Given the description of an element on the screen output the (x, y) to click on. 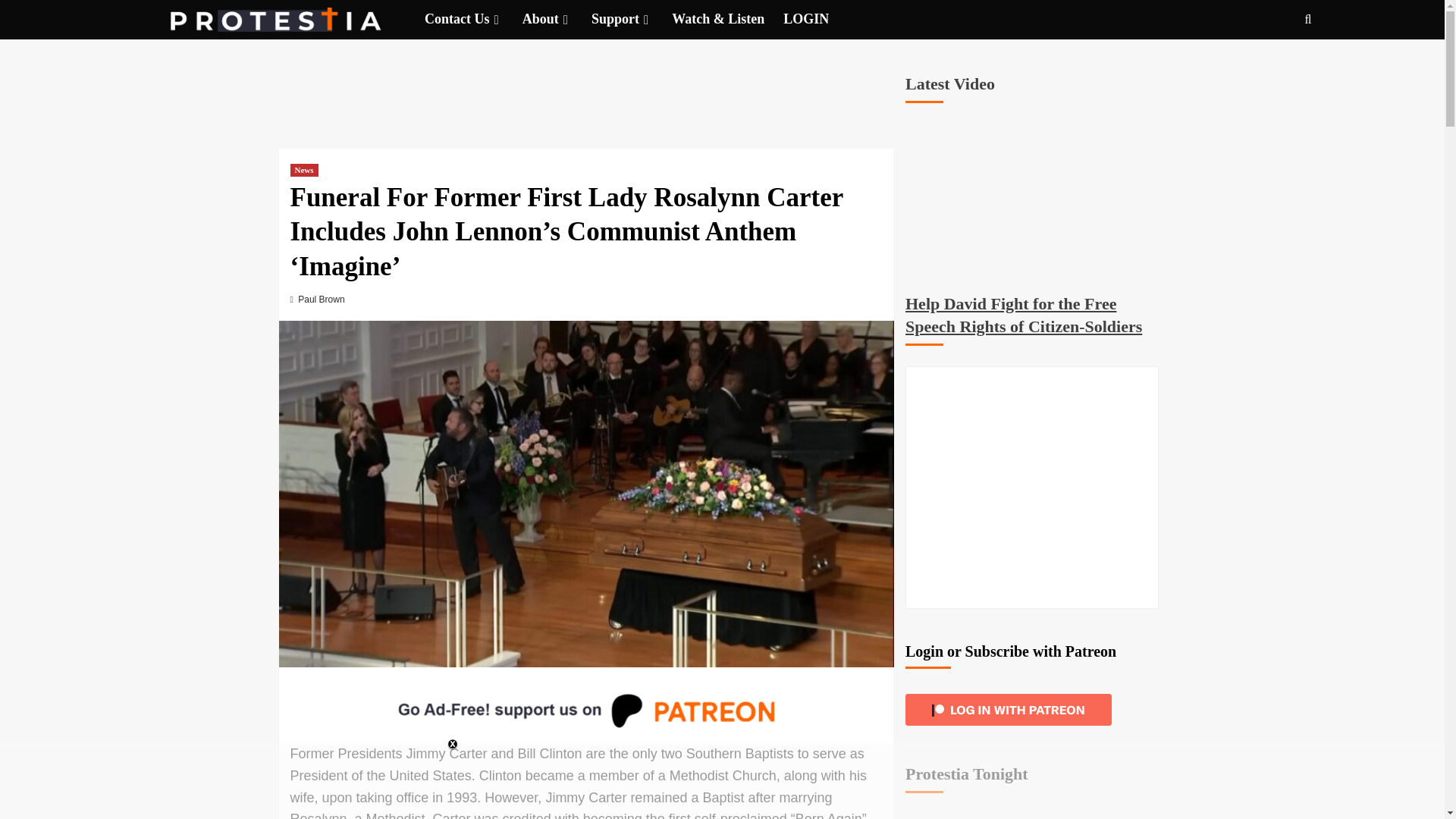
Support (631, 19)
Contact Us (473, 19)
About (556, 19)
News (303, 169)
YouTube player (1035, 197)
Paul Brown (320, 299)
Search (1272, 65)
LOGIN (815, 19)
